Given the description of an element on the screen output the (x, y) to click on. 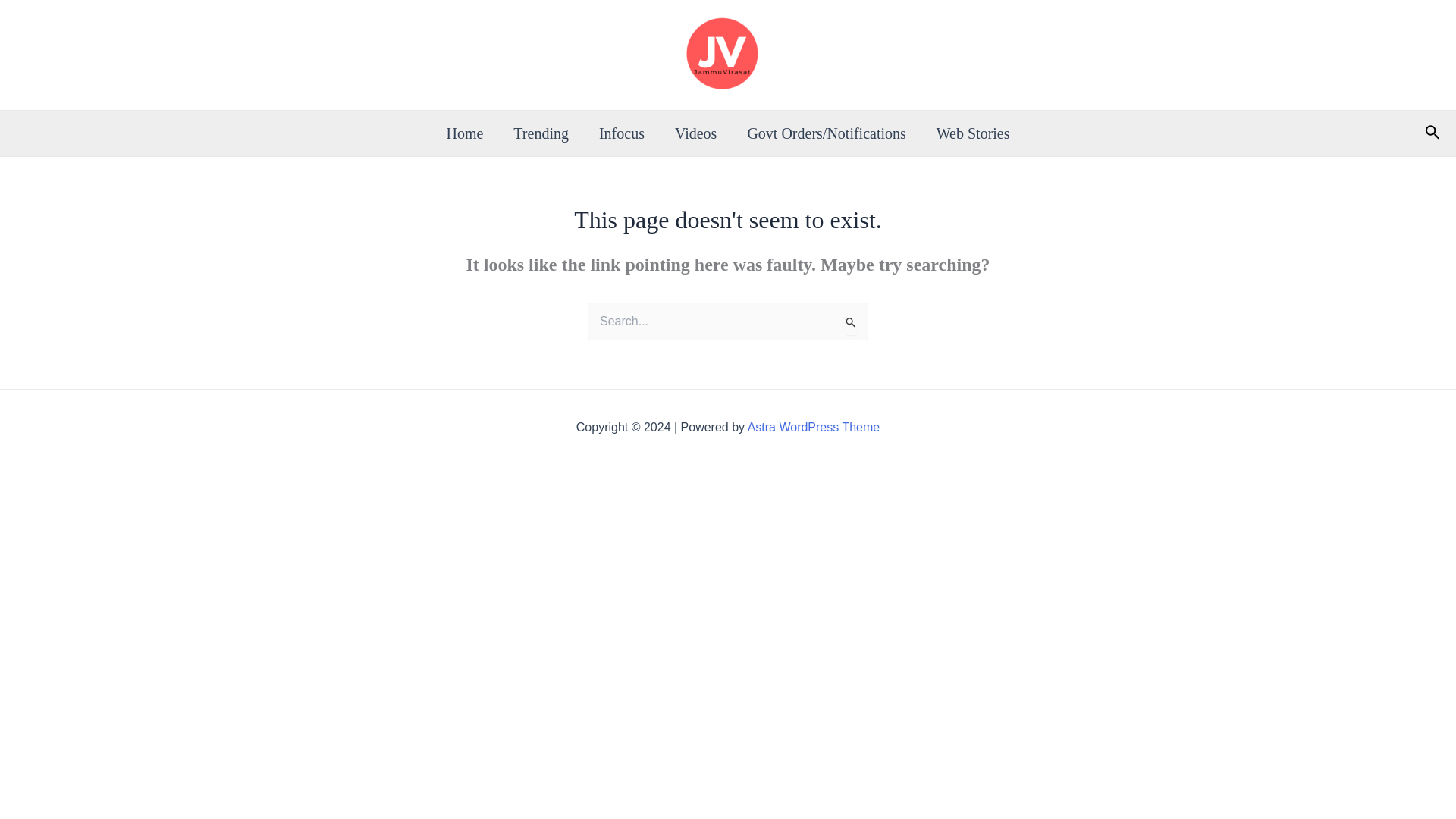
Videos (695, 133)
Trending (540, 133)
Web Stories (973, 133)
Infocus (621, 133)
Astra WordPress Theme (814, 427)
Home (463, 133)
